Given the description of an element on the screen output the (x, y) to click on. 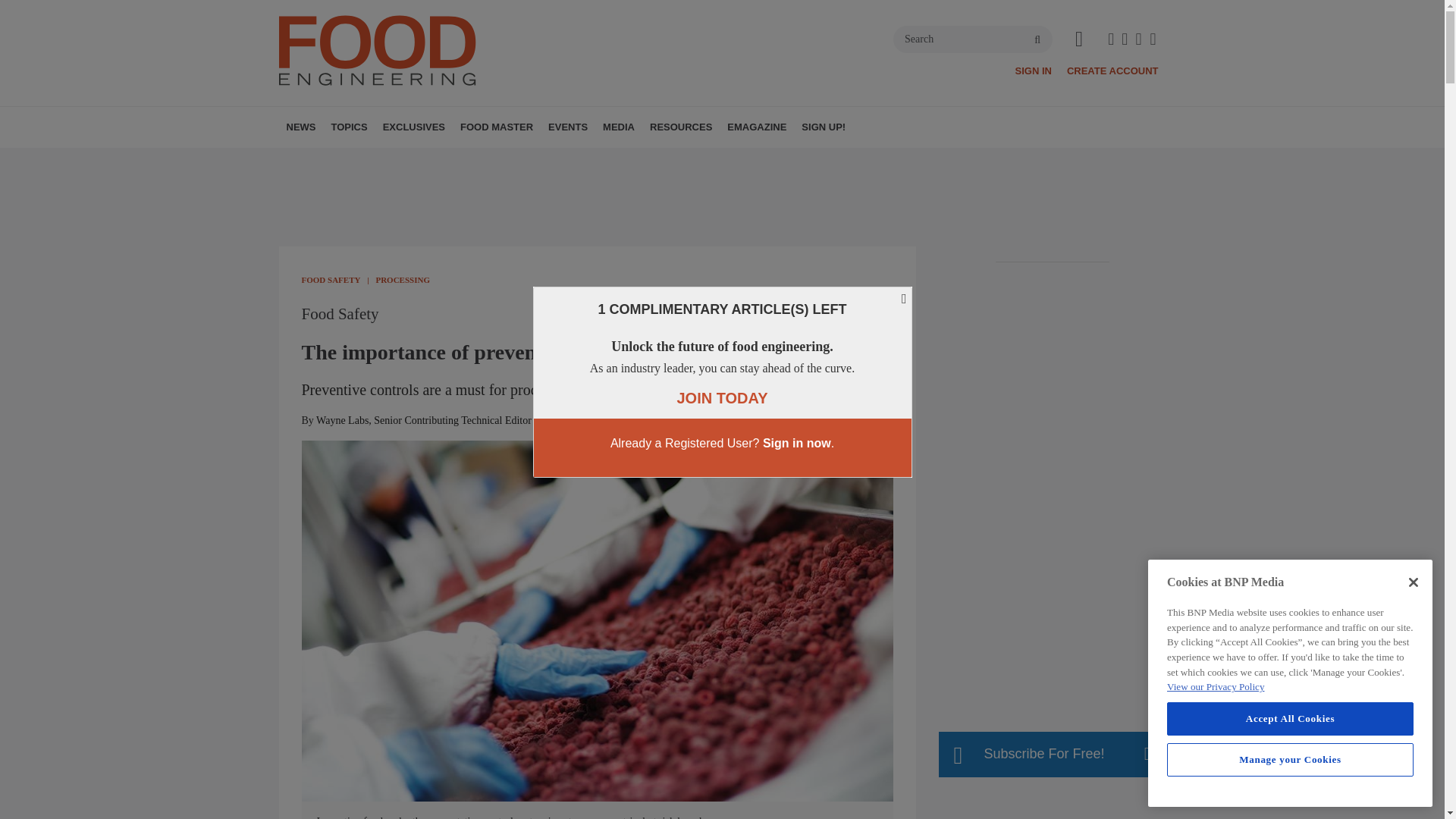
Search (972, 39)
Search (972, 39)
